Given the description of an element on the screen output the (x, y) to click on. 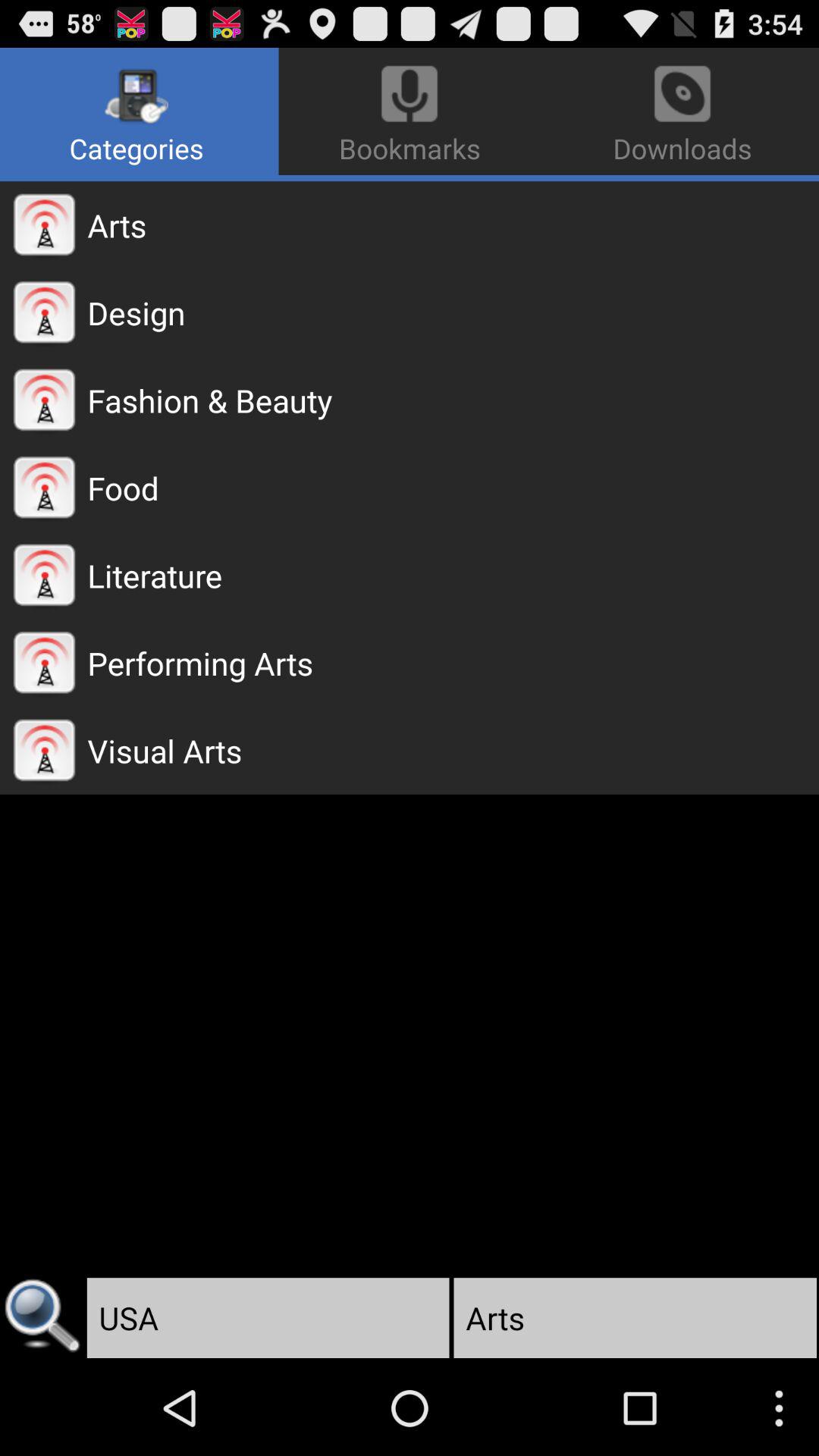
jump until the visual arts (453, 750)
